Given the description of an element on the screen output the (x, y) to click on. 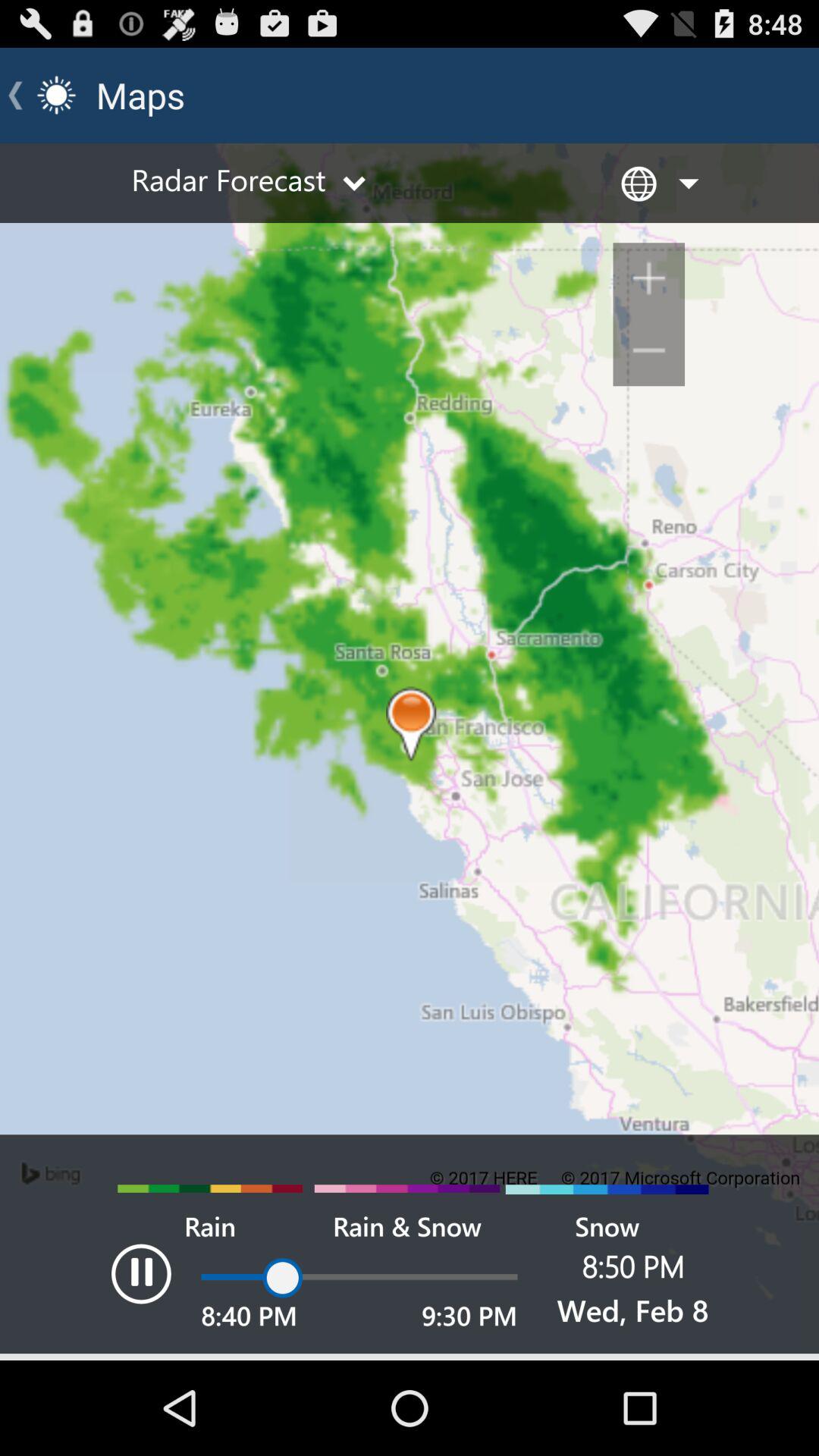
forecast panel (409, 751)
